Given the description of an element on the screen output the (x, y) to click on. 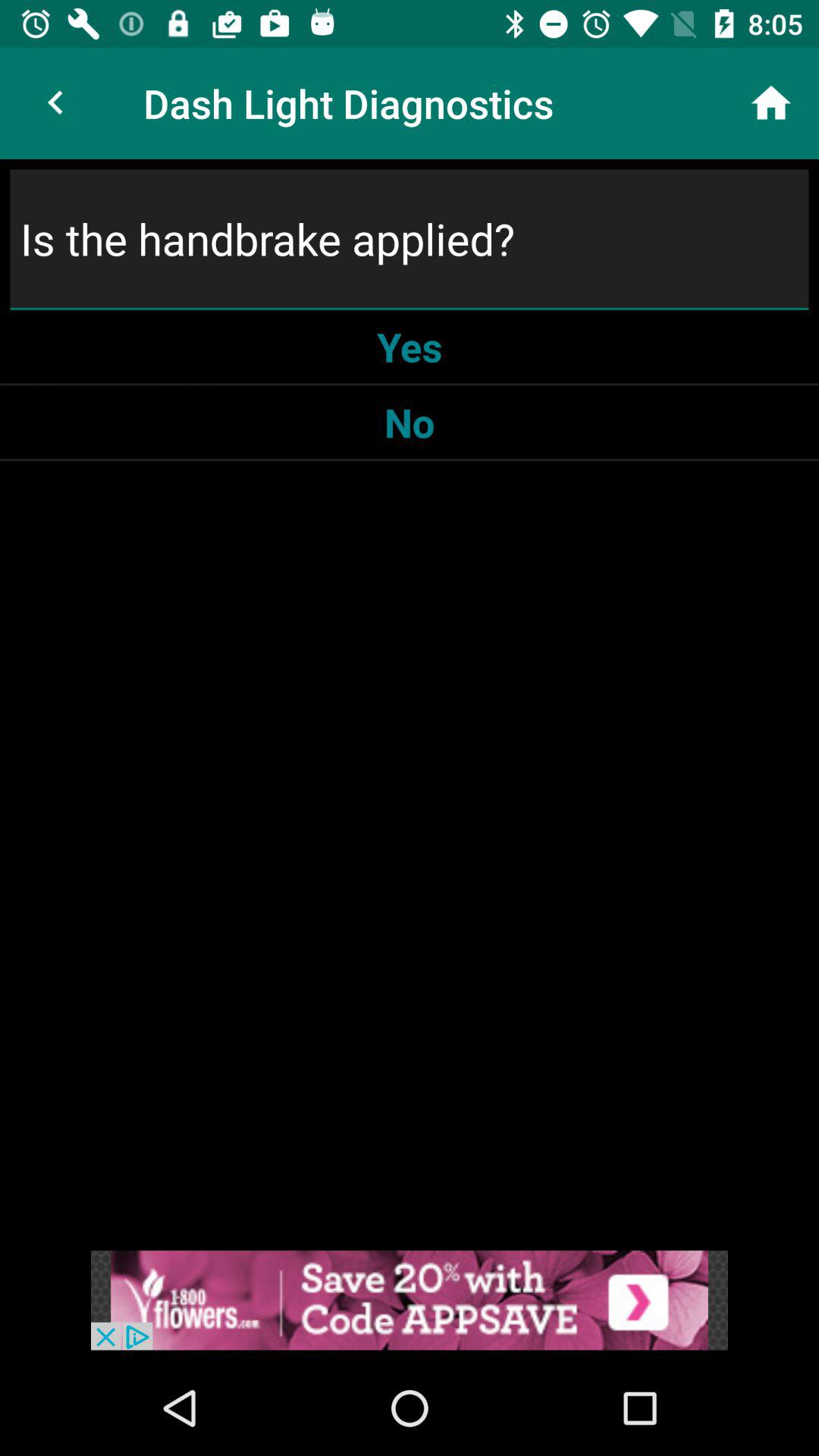
close advertisement (409, 1300)
